Given the description of an element on the screen output the (x, y) to click on. 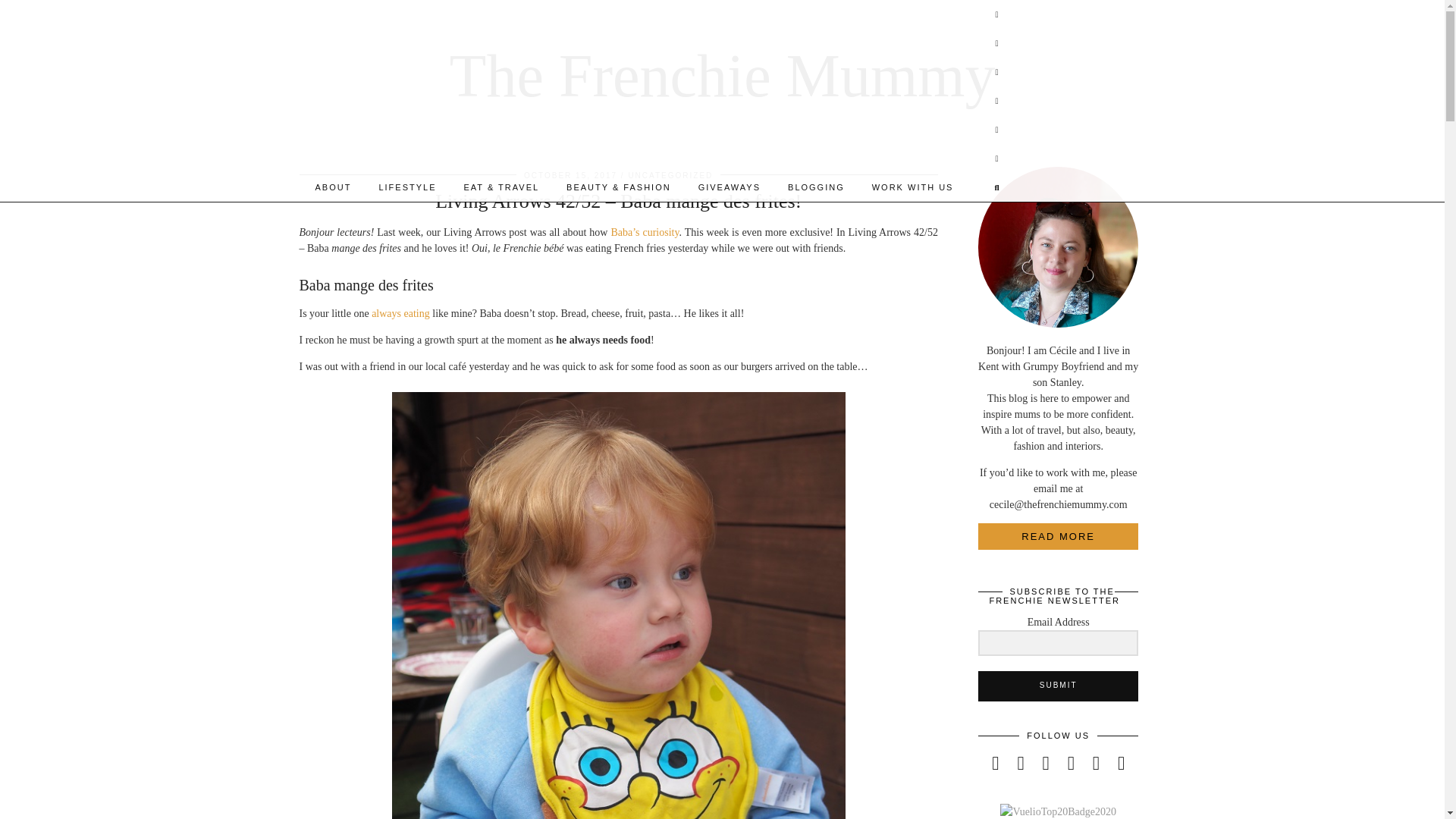
UNCATEGORIZED (670, 175)
ABOUT (333, 186)
GIVEAWAYS (729, 186)
The Frenchie Mummy (722, 75)
LIFESTYLE (407, 186)
WORK WITH US (913, 186)
BLOGGING (816, 186)
Twitter (996, 14)
The Frenchie Mummy (722, 75)
